Given the description of an element on the screen output the (x, y) to click on. 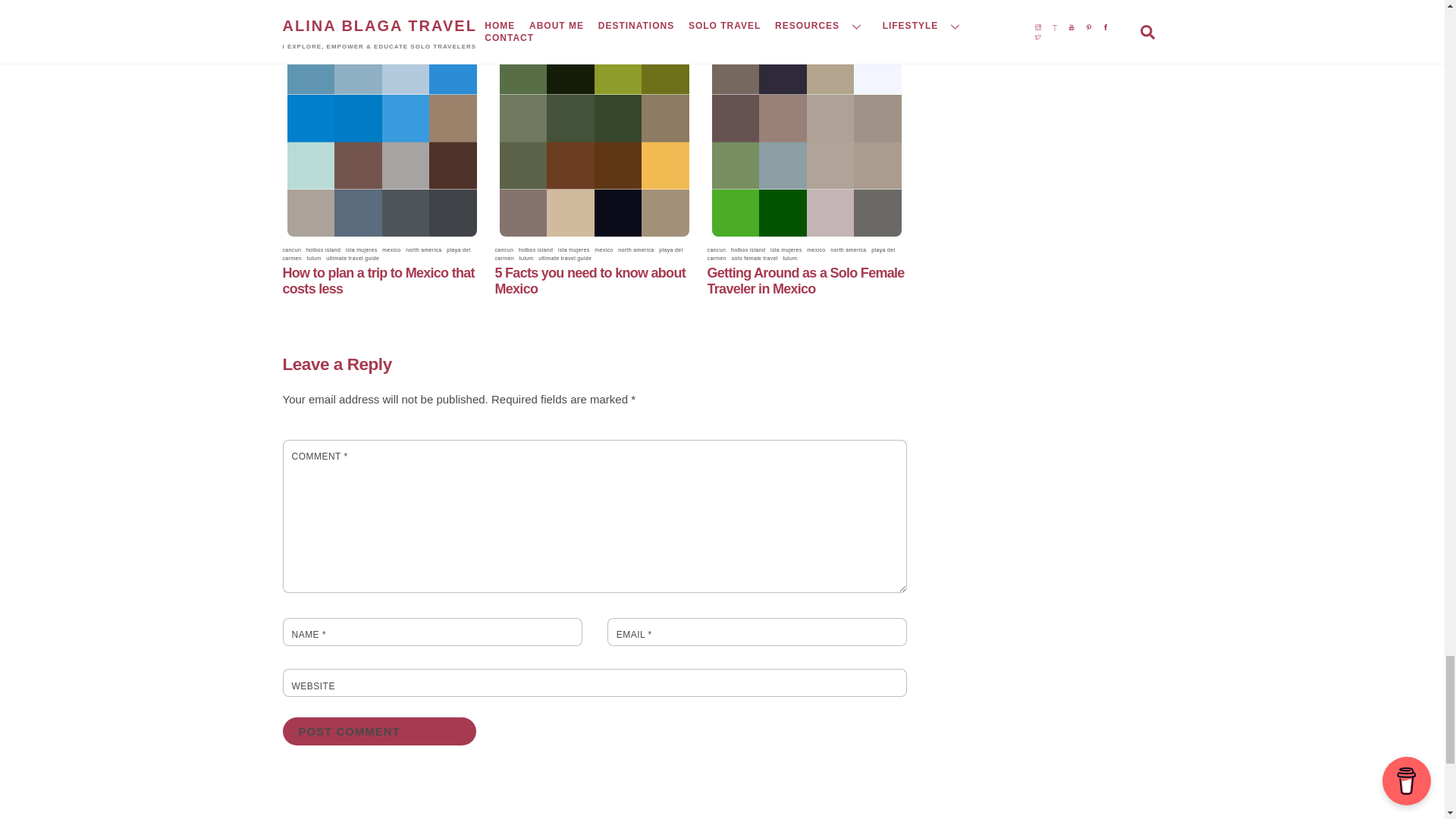
Post Comment (379, 731)
